Given the description of an element on the screen output the (x, y) to click on. 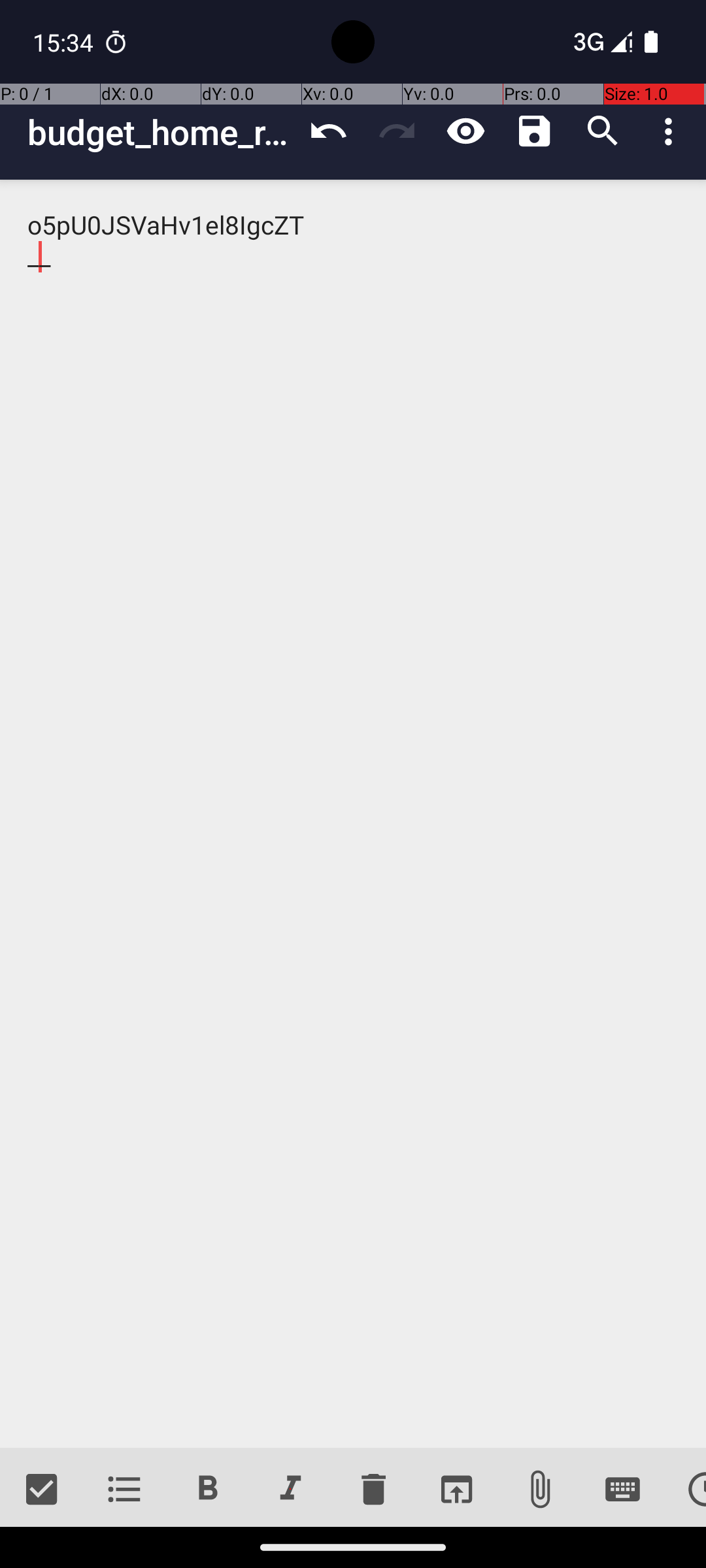
budget_home_renovation_final Element type: android.widget.TextView (160, 131)
o5pU0JSVaHv1el8IgcZT
__ Element type: android.widget.EditText (353, 813)
